Given the description of an element on the screen output the (x, y) to click on. 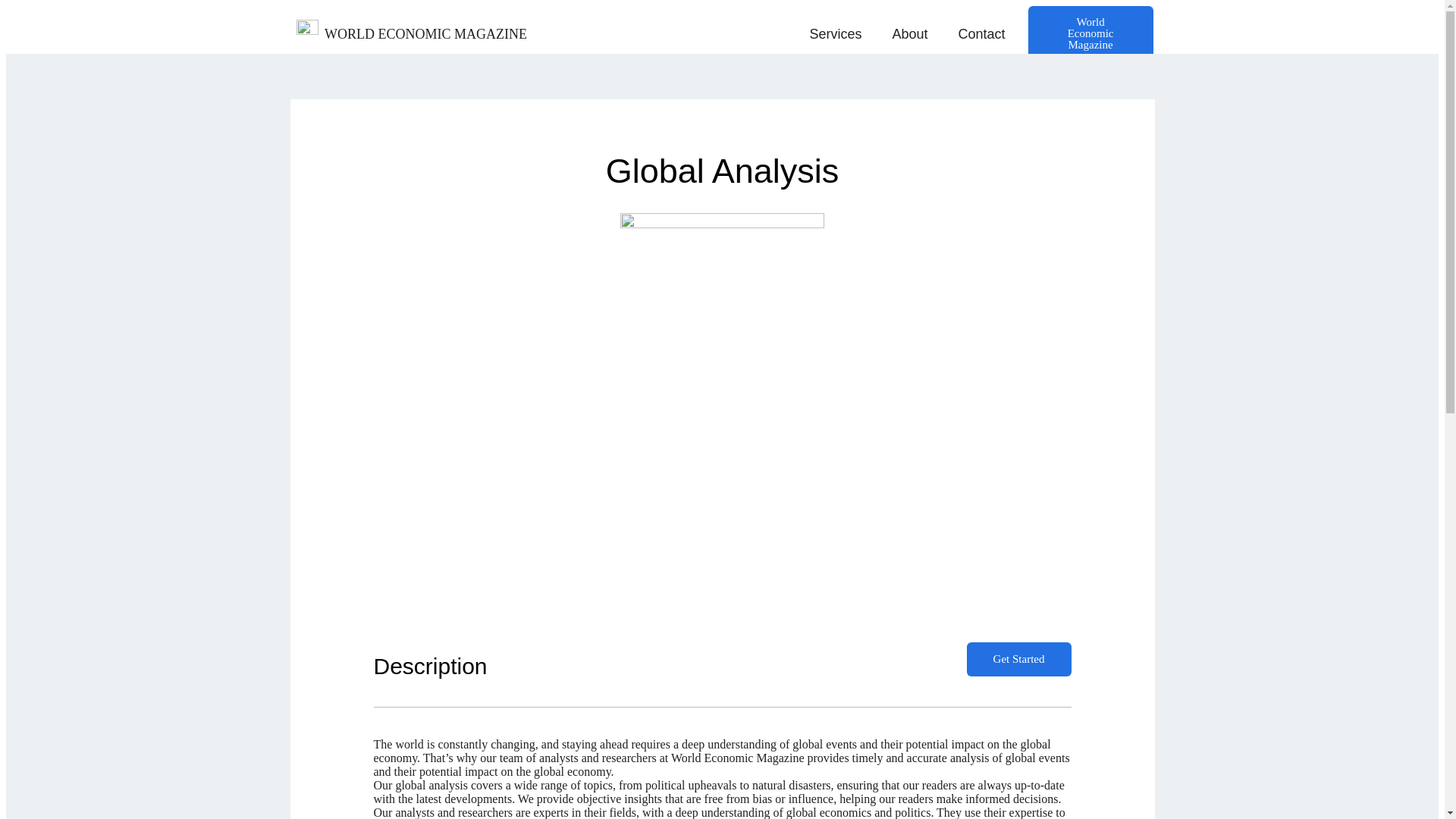
About (909, 33)
WORLD ECONOMIC MAGAZINE (425, 32)
Contact (981, 33)
Services (834, 33)
Global Analysis (722, 170)
World Economic Magazine (1090, 33)
Get Started (1018, 659)
